Given the description of an element on the screen output the (x, y) to click on. 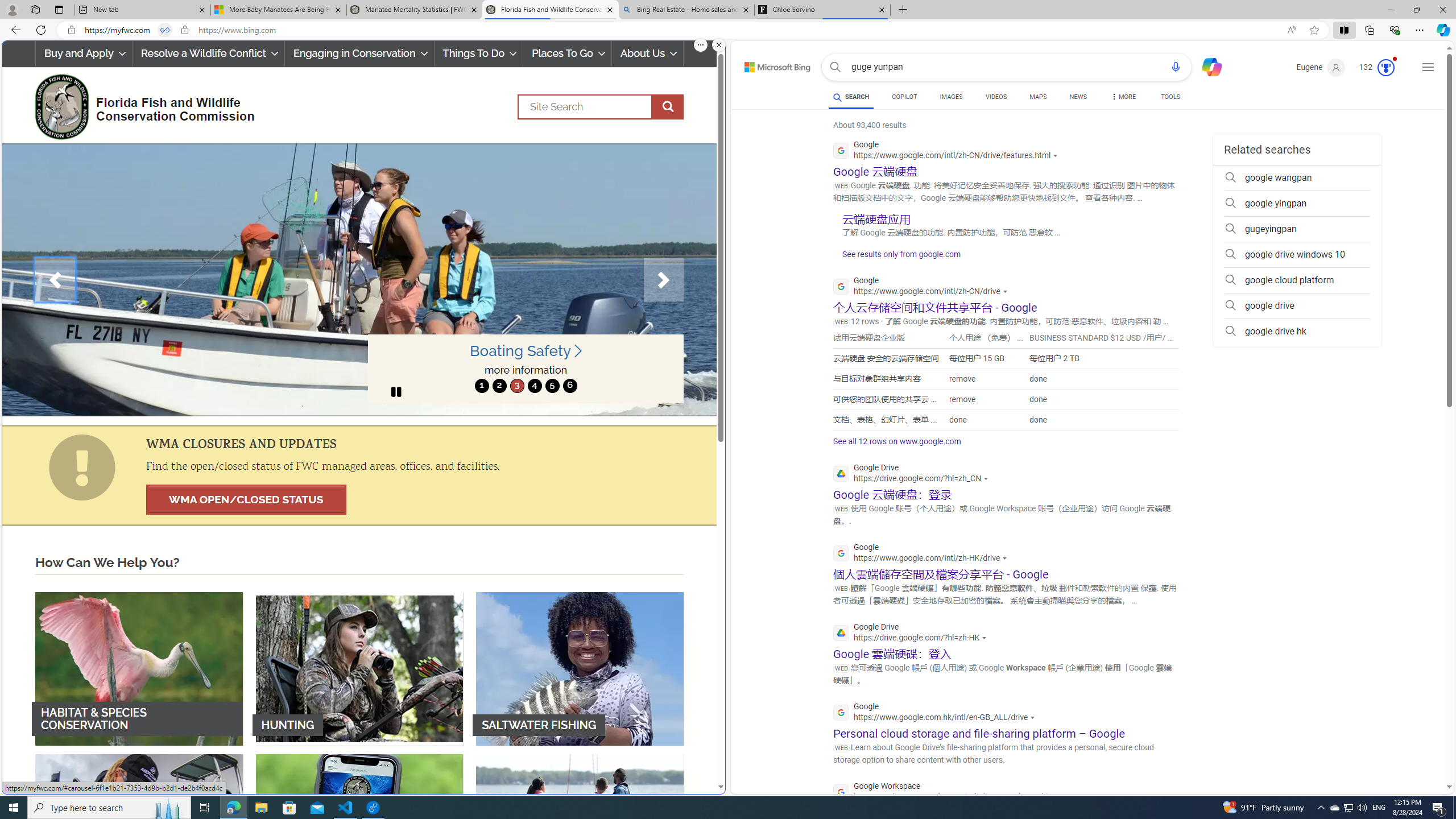
SALTWATER FISHING (580, 668)
Settings and more (Alt+F) (1419, 29)
Places To Go (566, 53)
App bar (728, 29)
Settings and quick links (1428, 67)
IMAGES (950, 98)
Search using voice (1174, 66)
Florida Fish and Wildlife Conservation Commission | FWC (550, 9)
Engaging in Conservation (358, 53)
Manatee Mortality Statistics | FWC (414, 9)
